Given the description of an element on the screen output the (x, y) to click on. 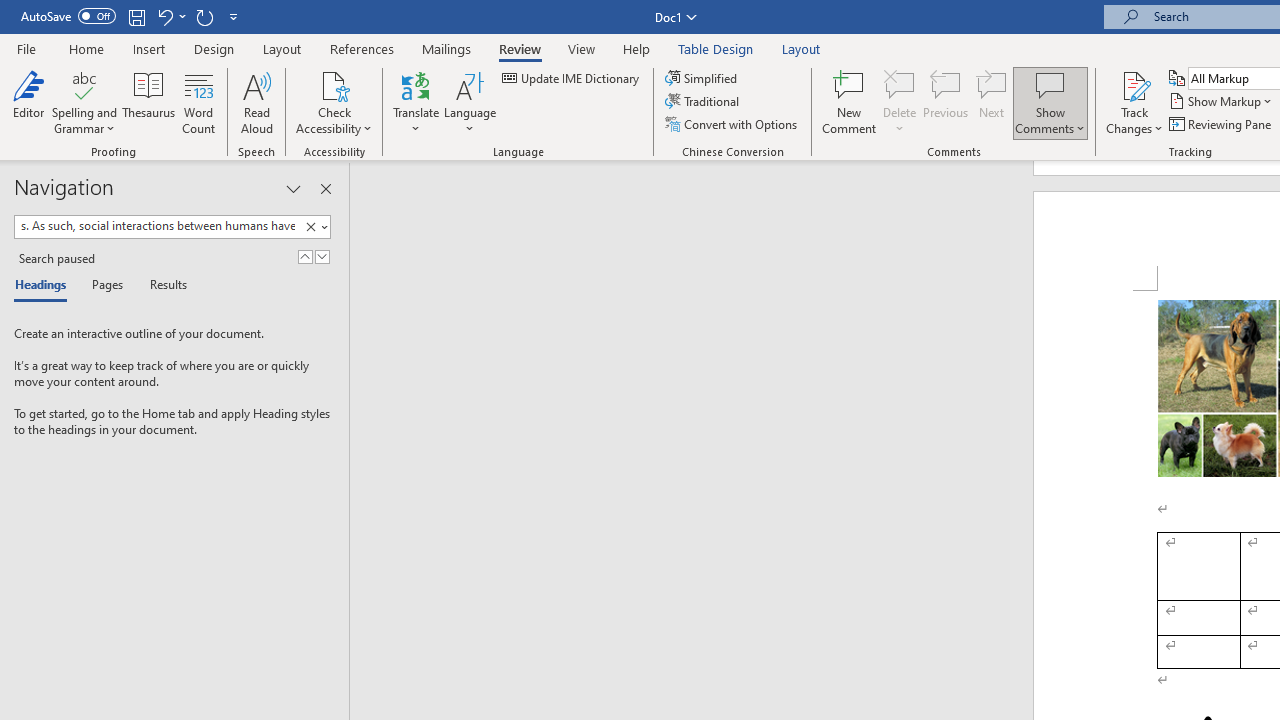
Simplified (702, 78)
Previous (946, 102)
Next (991, 102)
Word Count (198, 102)
Track Changes (1134, 102)
Show Comments (1050, 102)
Clear (310, 227)
Undo Style (164, 15)
